Given the description of an element on the screen output the (x, y) to click on. 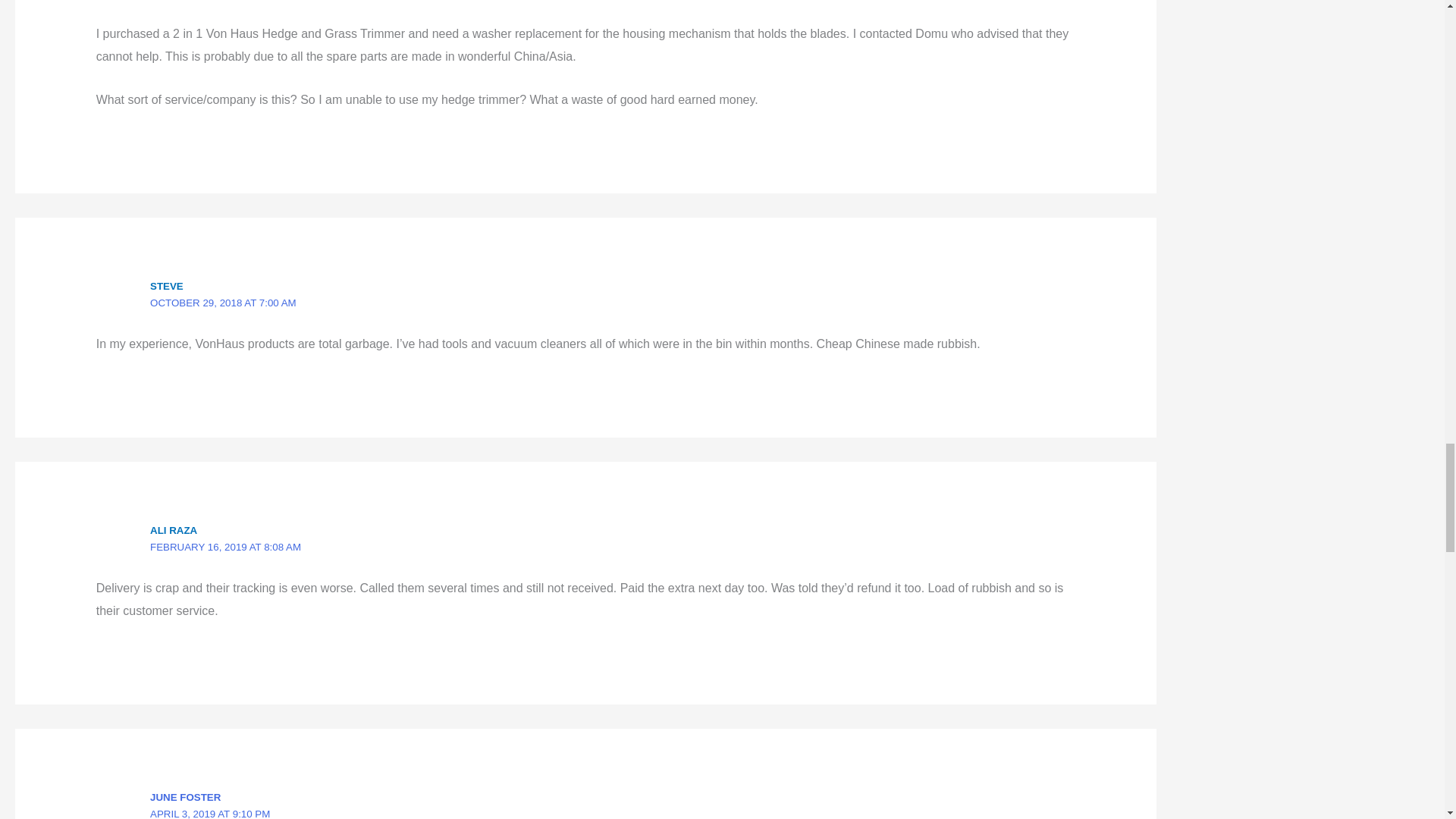
FEBRUARY 16, 2019 AT 8:08 AM (225, 546)
JUNE FOSTER (185, 797)
OCTOBER 29, 2018 AT 7:00 AM (223, 302)
